Given the description of an element on the screen output the (x, y) to click on. 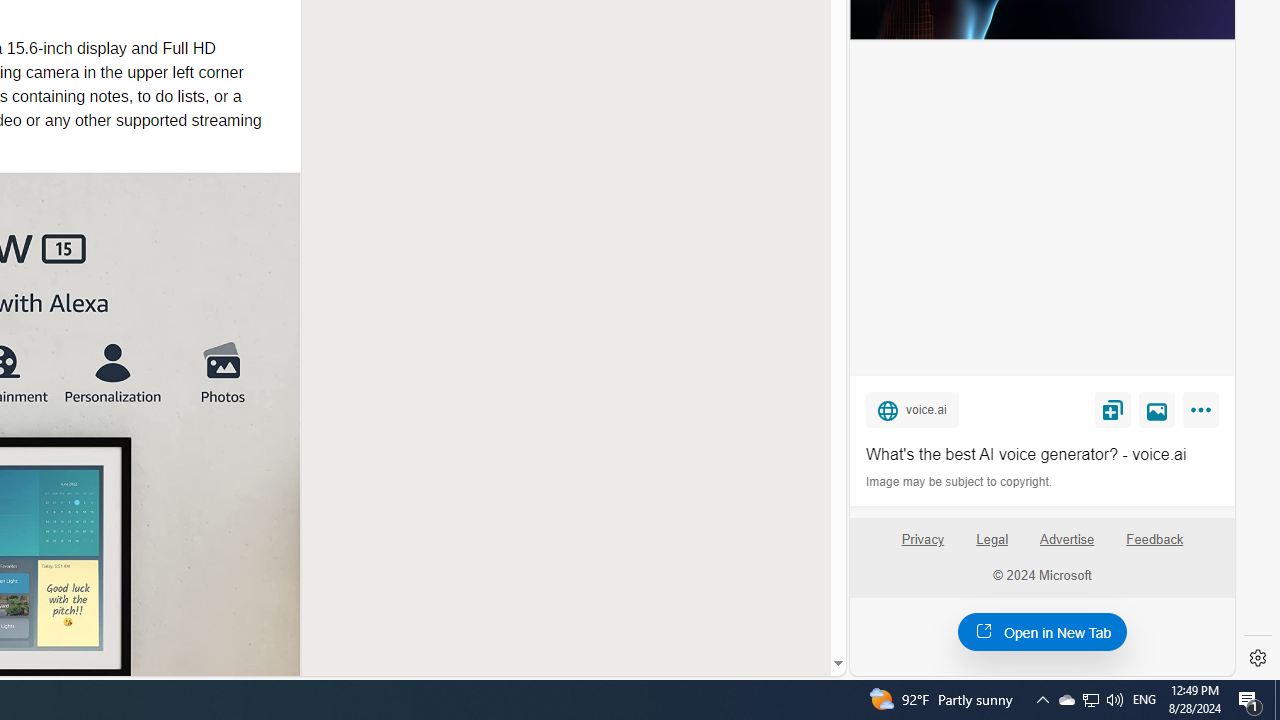
Image may be subject to copyright. (959, 481)
Advertise (1067, 547)
More (1204, 413)
View image (1157, 409)
Legal (992, 547)
Settings (1258, 658)
Save (1112, 409)
Advertise (1066, 539)
voice.ai (912, 409)
Privacy (922, 539)
